Given the description of an element on the screen output the (x, y) to click on. 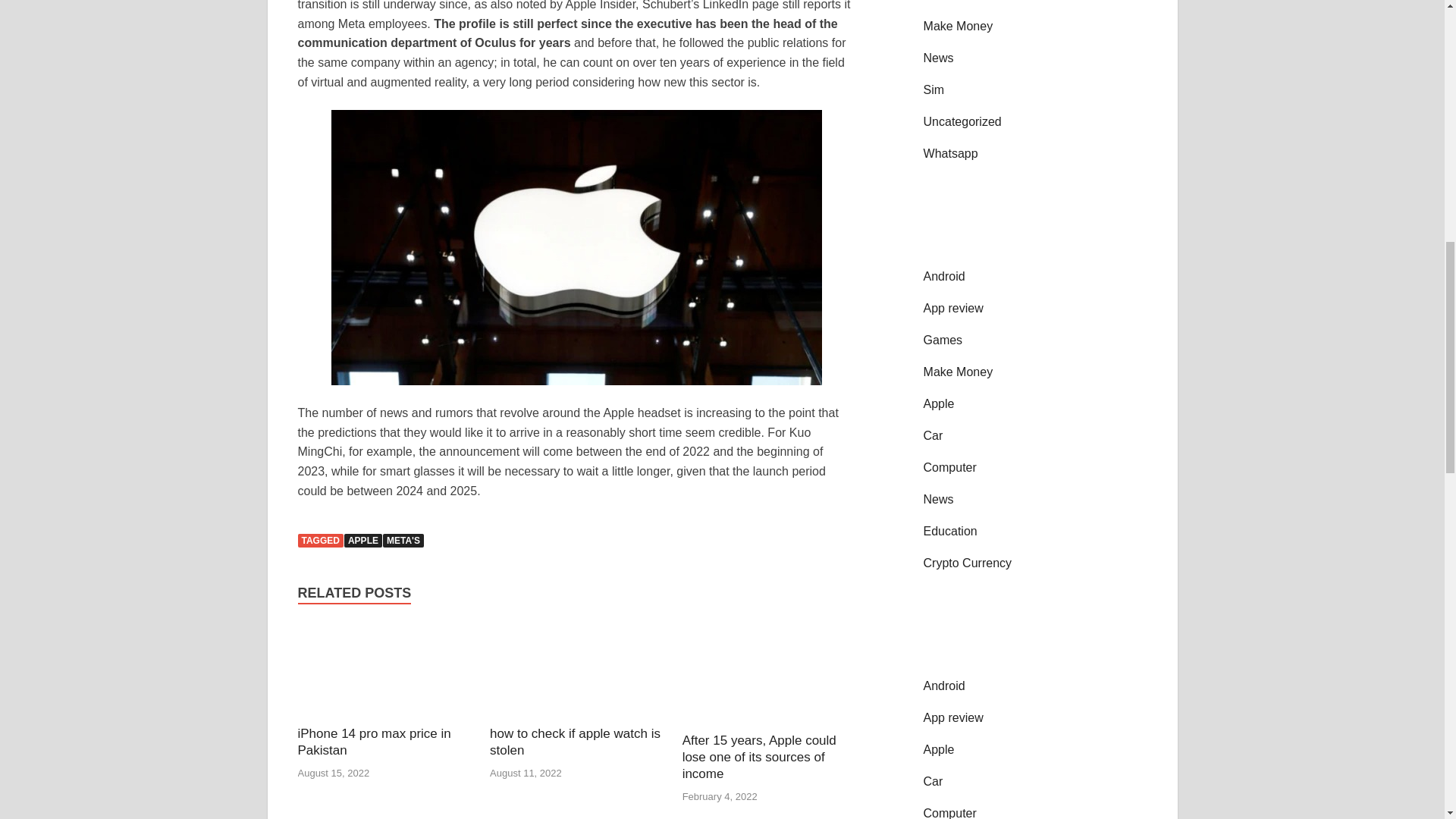
APPLE (362, 540)
META'S (402, 540)
how to check if apple watch is stolen (575, 672)
iPhone 14 pro max price in Pakistan (373, 741)
iPhone 14 pro max price in Pakistan (373, 741)
how to check if apple watch is stolen (575, 741)
iPhone 14 pro max price in Pakistan (383, 672)
